Given the description of an element on the screen output the (x, y) to click on. 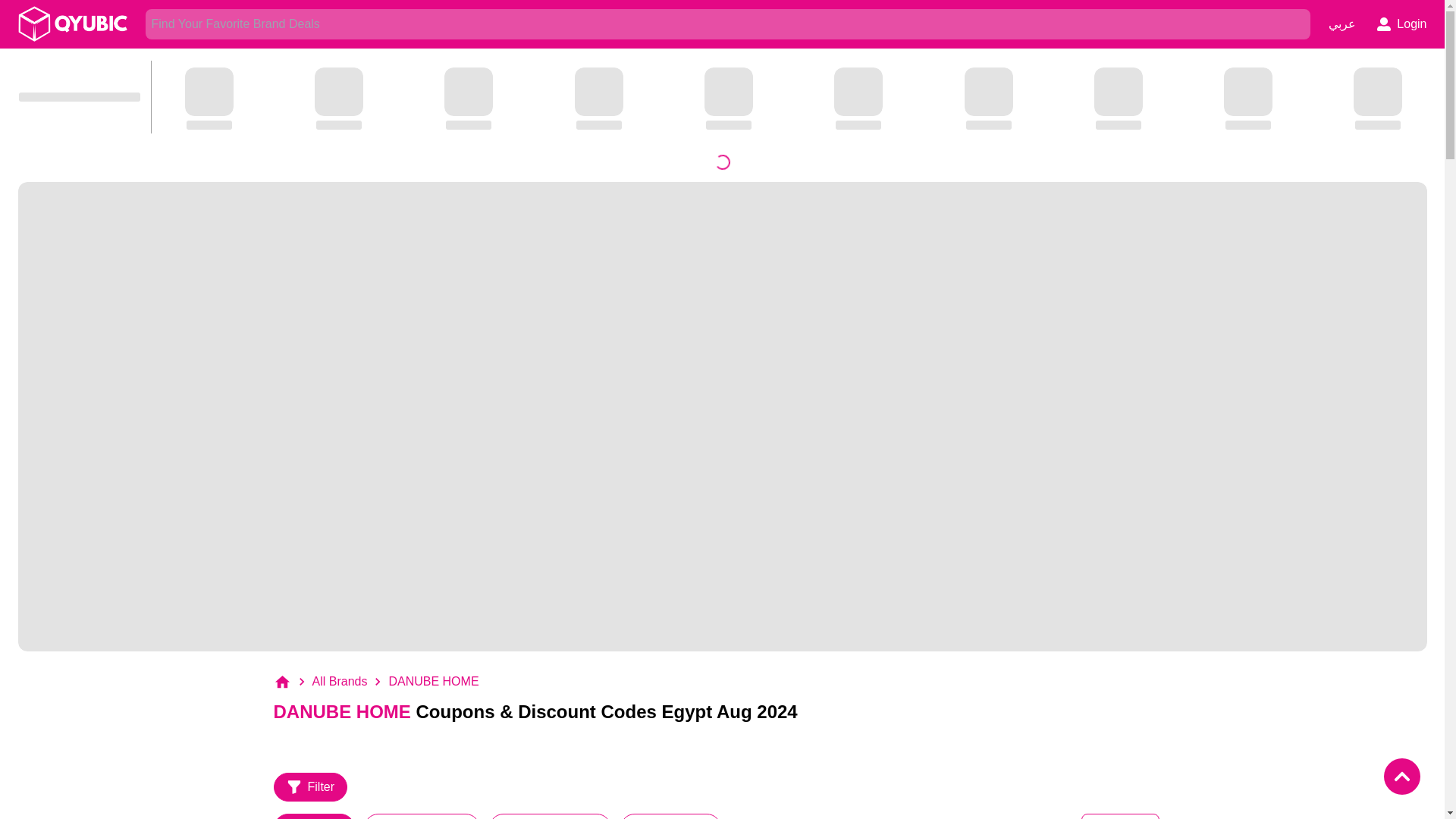
Sort By (1119, 816)
qyubic logo white (72, 23)
Login (1401, 24)
Filter (310, 787)
